Given the description of an element on the screen output the (x, y) to click on. 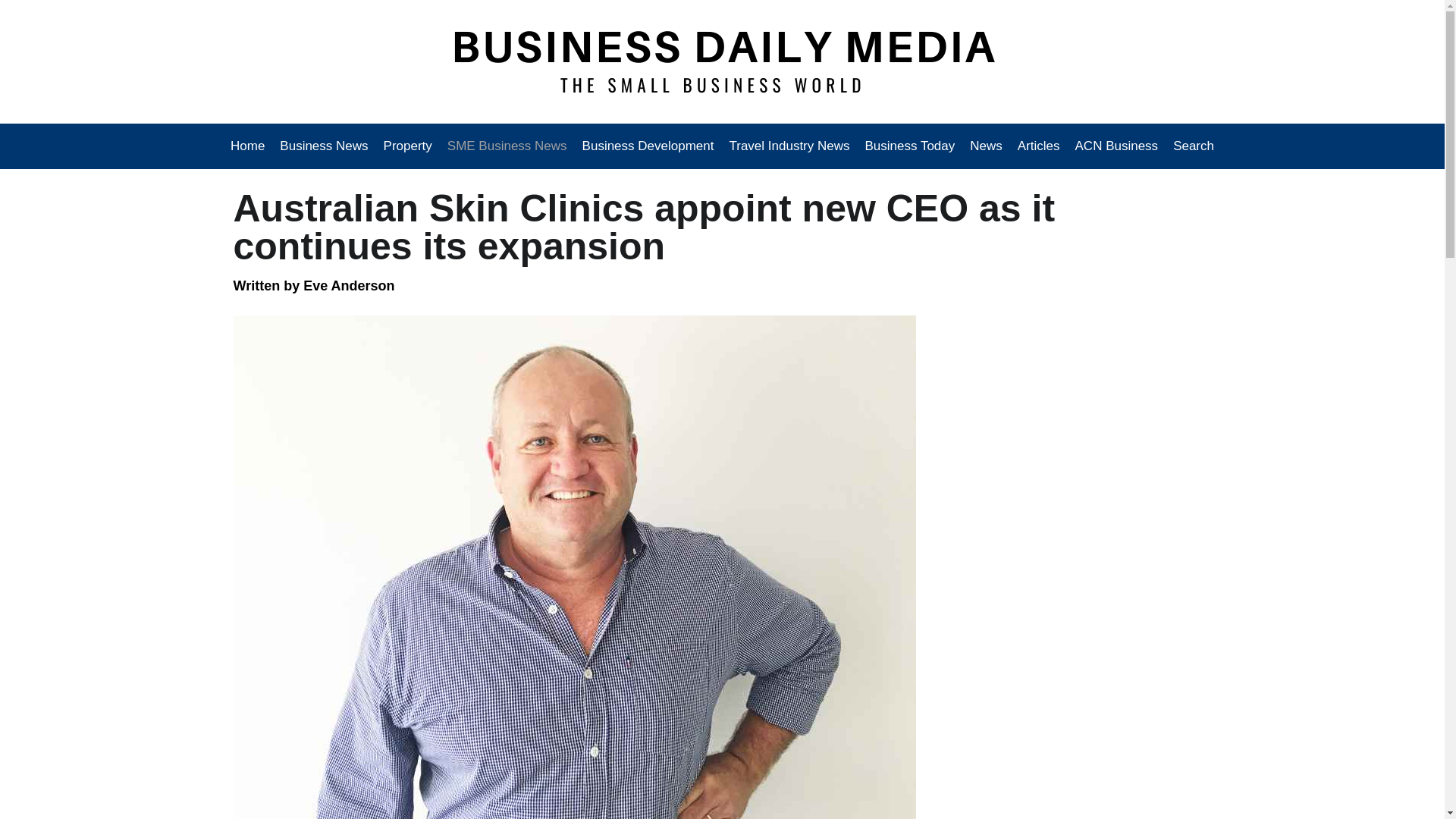
Travel Industry News (788, 145)
SME Business News (507, 145)
Business Today (909, 145)
News (986, 145)
Articles (1038, 145)
Business Development (648, 145)
Property (407, 145)
ACN Business (1116, 145)
Business News (323, 145)
Home (251, 145)
